Given the description of an element on the screen output the (x, y) to click on. 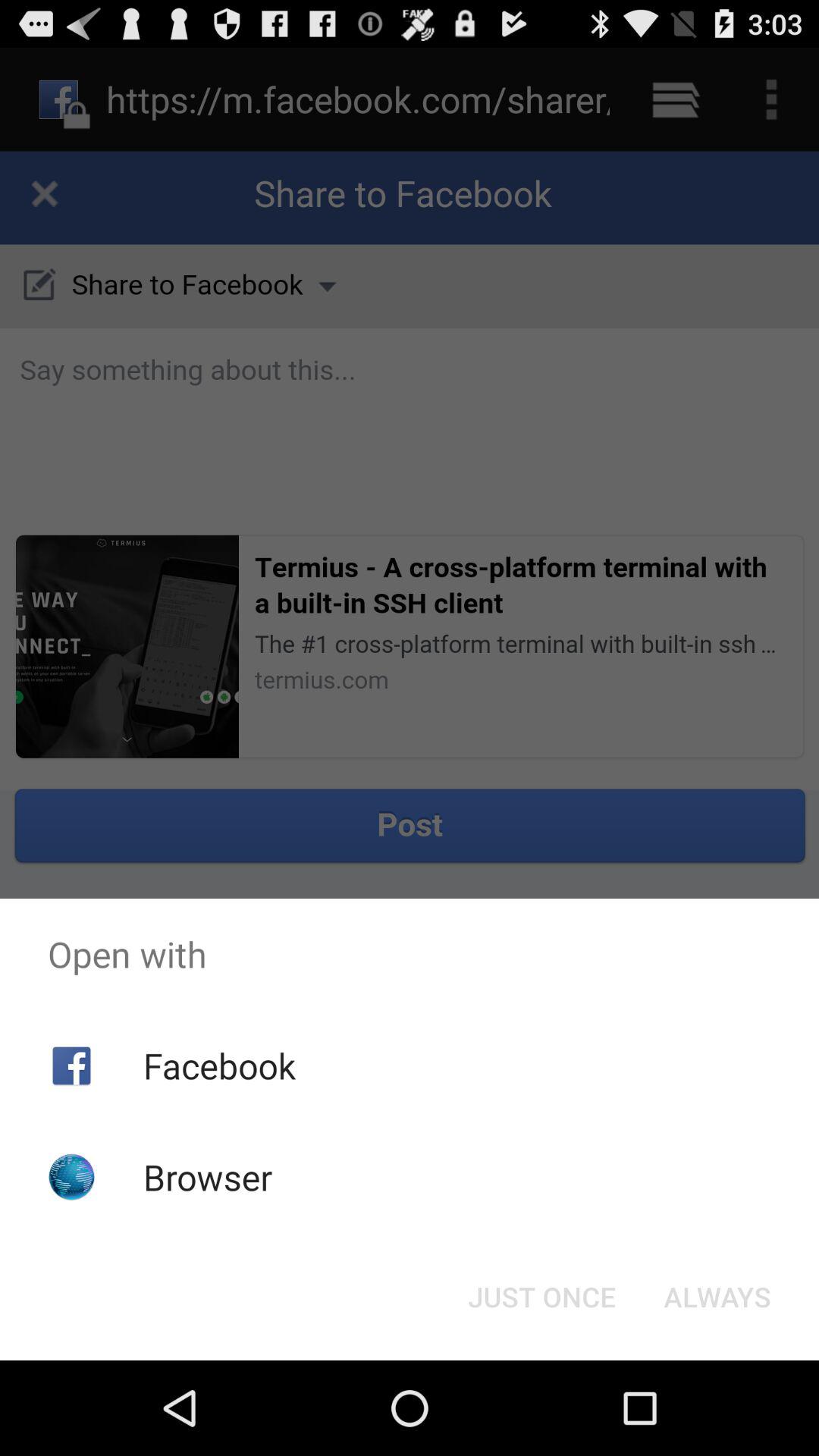
turn off the item to the left of always button (541, 1296)
